Given the description of an element on the screen output the (x, y) to click on. 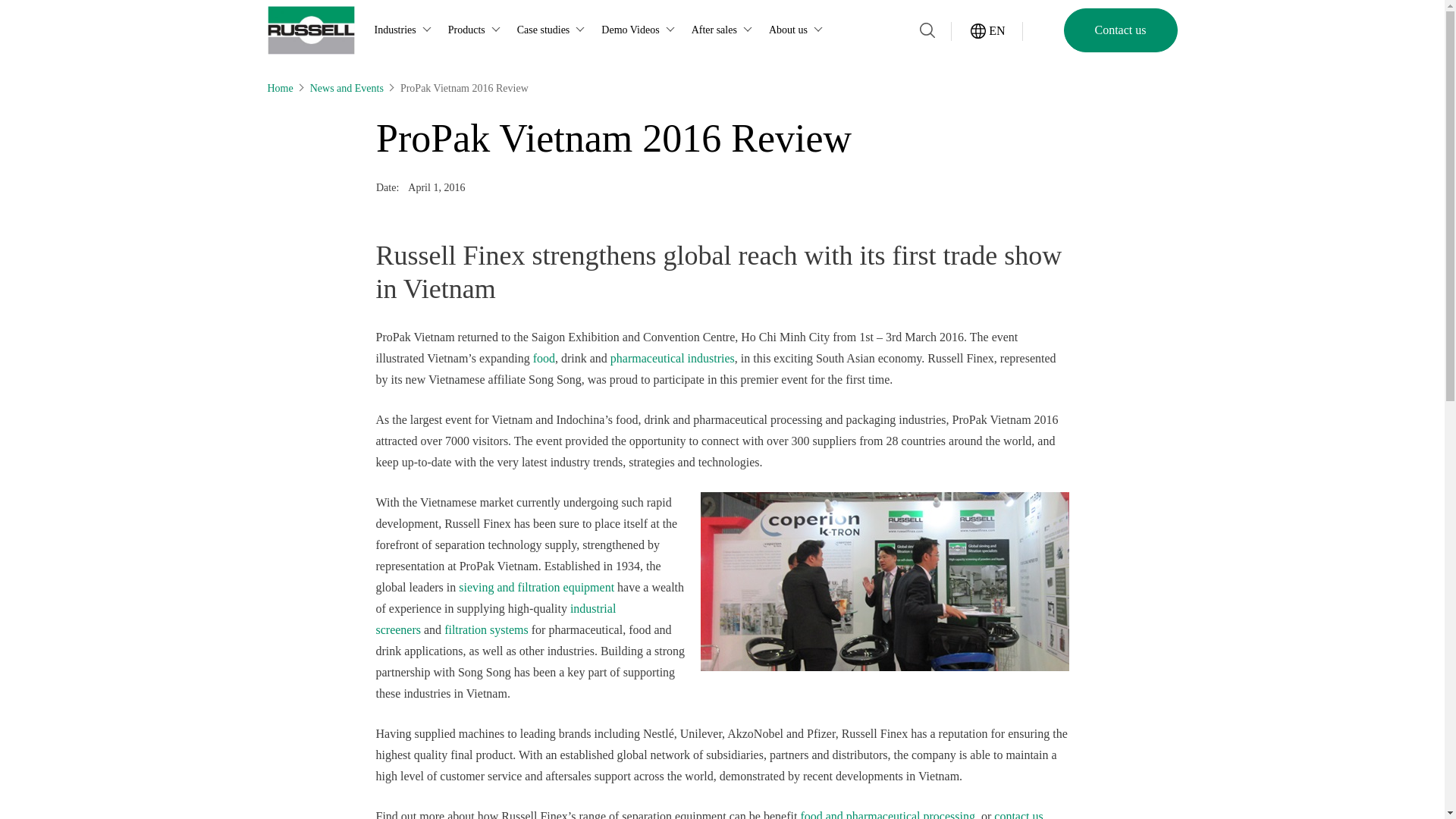
Industries (404, 30)
Products (476, 30)
Russell Finex (309, 29)
